Given the description of an element on the screen output the (x, y) to click on. 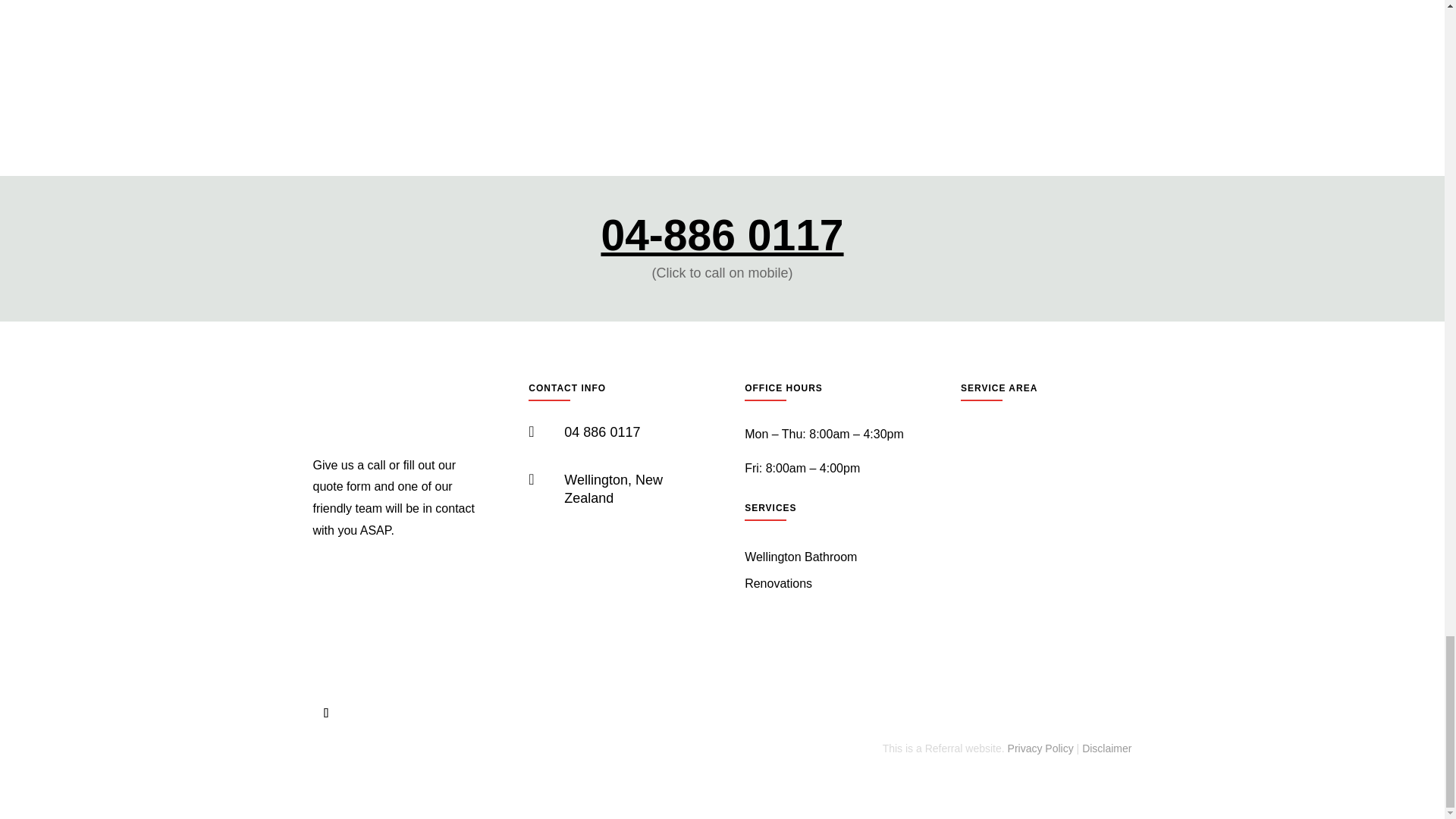
04-886 0117 (721, 234)
Follow on Facebook (326, 712)
04 886 0117 (602, 432)
Privacy Policy (1040, 748)
Wellington-Bathroom-Renovations-Long (398, 407)
Disclaimer (1106, 748)
